Given the description of an element on the screen output the (x, y) to click on. 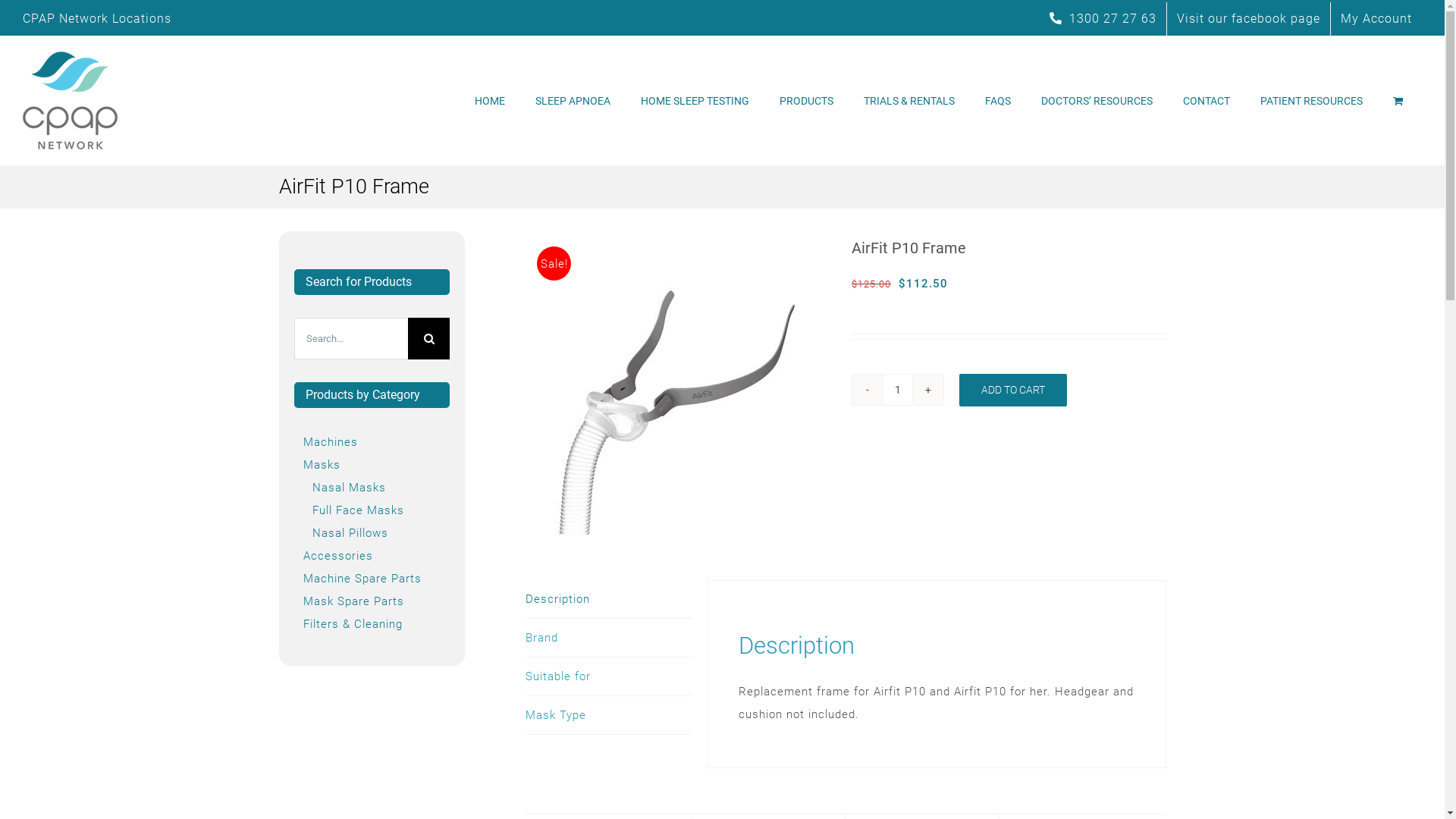
Masks Element type: text (321, 464)
Accessories Element type: text (338, 555)
Machines Element type: text (330, 441)
Machine Spare Parts Element type: text (362, 578)
HOME Element type: text (489, 100)
Filters & Cleaning Element type: text (352, 623)
FAQS Element type: text (997, 100)
PRODUCTS Element type: text (806, 100)
CPAP Network Locations Element type: text (96, 18)
My Account Element type: text (1375, 18)
Nasal Masks Element type: text (348, 487)
Mask Spare Parts Element type: text (353, 601)
Full Face Masks Element type: text (358, 510)
Brand Element type: text (608, 637)
ADD TO CART Element type: text (1012, 389)
Mask Type Element type: text (608, 715)
Suitable for Element type: text (608, 676)
Nasal Pillows Element type: text (350, 532)
Description Element type: text (608, 599)
1300 27 27 63 Element type: text (1102, 18)
SLEEP APNOEA Element type: text (572, 100)
Visit our facebook page Element type: text (1248, 18)
CONTACT Element type: text (1206, 100)
HOME SLEEP TESTING Element type: text (694, 100)
PATIENT RESOURCES Element type: text (1311, 100)
TRIALS & RENTALS Element type: text (908, 100)
